Given the description of an element on the screen output the (x, y) to click on. 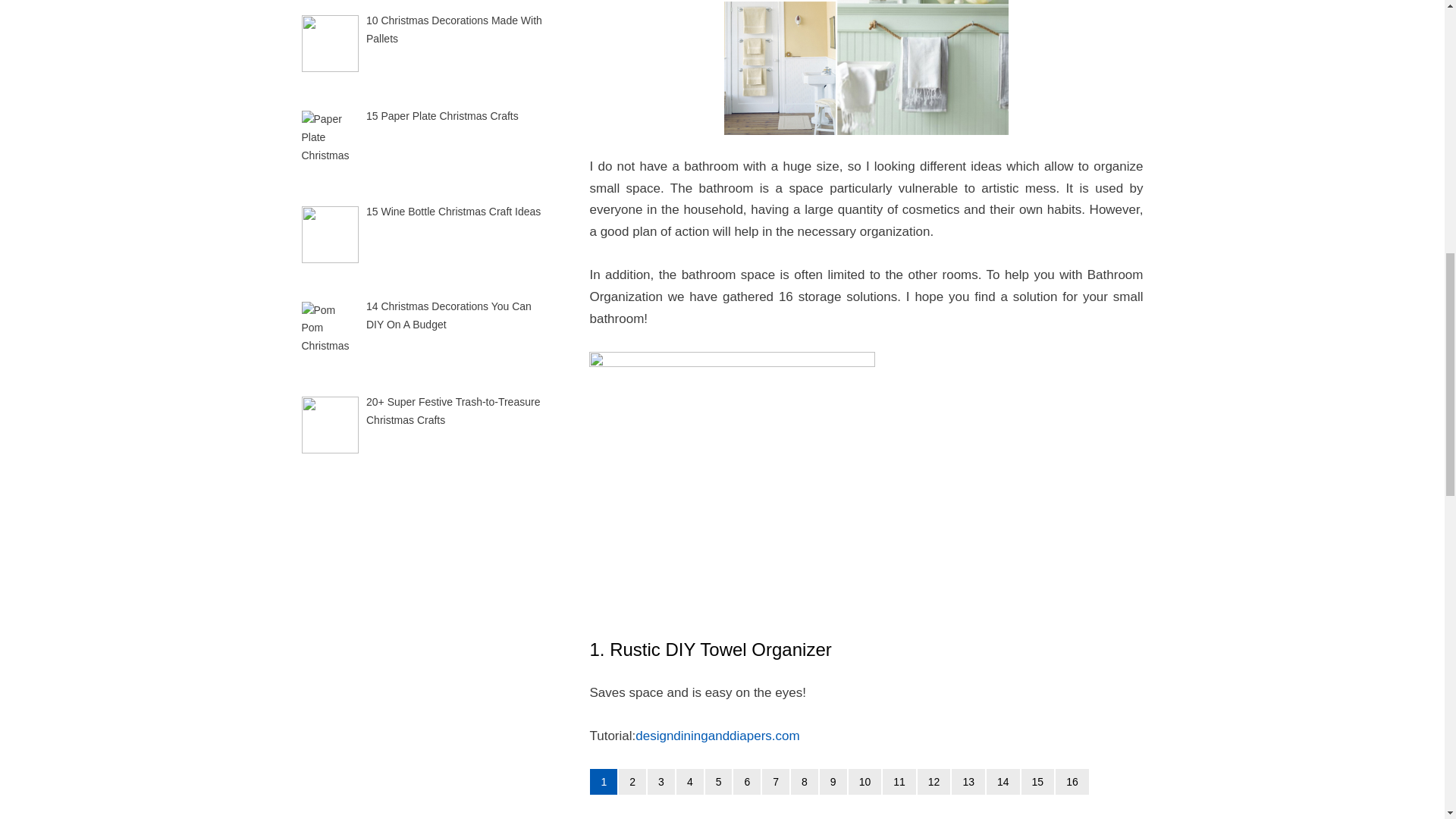
9 (833, 781)
3 (661, 781)
7 (775, 781)
11 (898, 781)
HOME DECOR (742, 818)
15 (1038, 781)
designdininganddiapers.com (716, 735)
DIY PROJECTS (674, 818)
10 (865, 781)
12 (933, 781)
6 (746, 781)
5 (718, 781)
4 (690, 781)
